Given the description of an element on the screen output the (x, y) to click on. 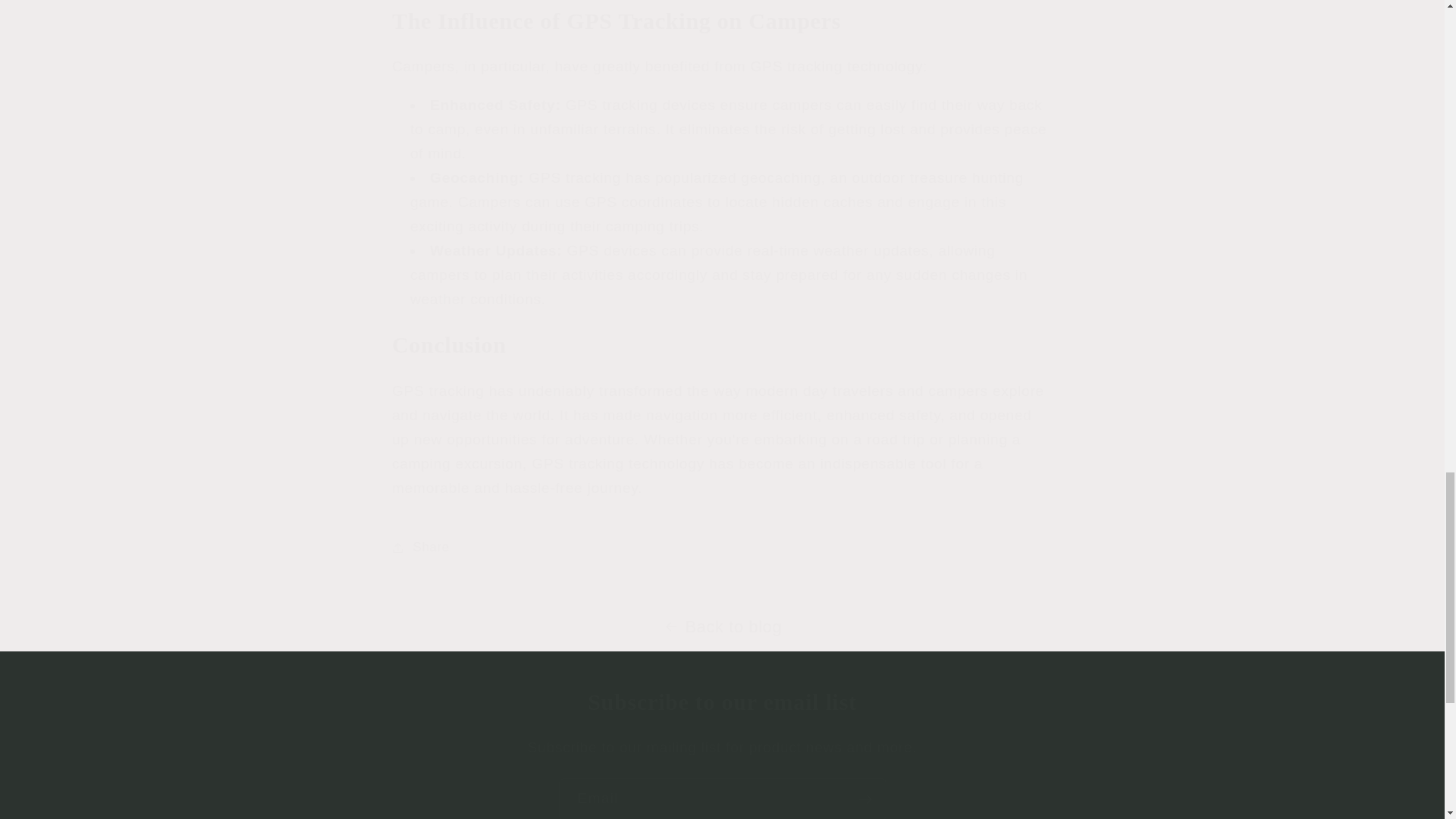
Subscribe to our email list (721, 702)
Subscribe to our mailing list for product news and more. (722, 747)
Email (721, 798)
Share (721, 547)
